Given the description of an element on the screen output the (x, y) to click on. 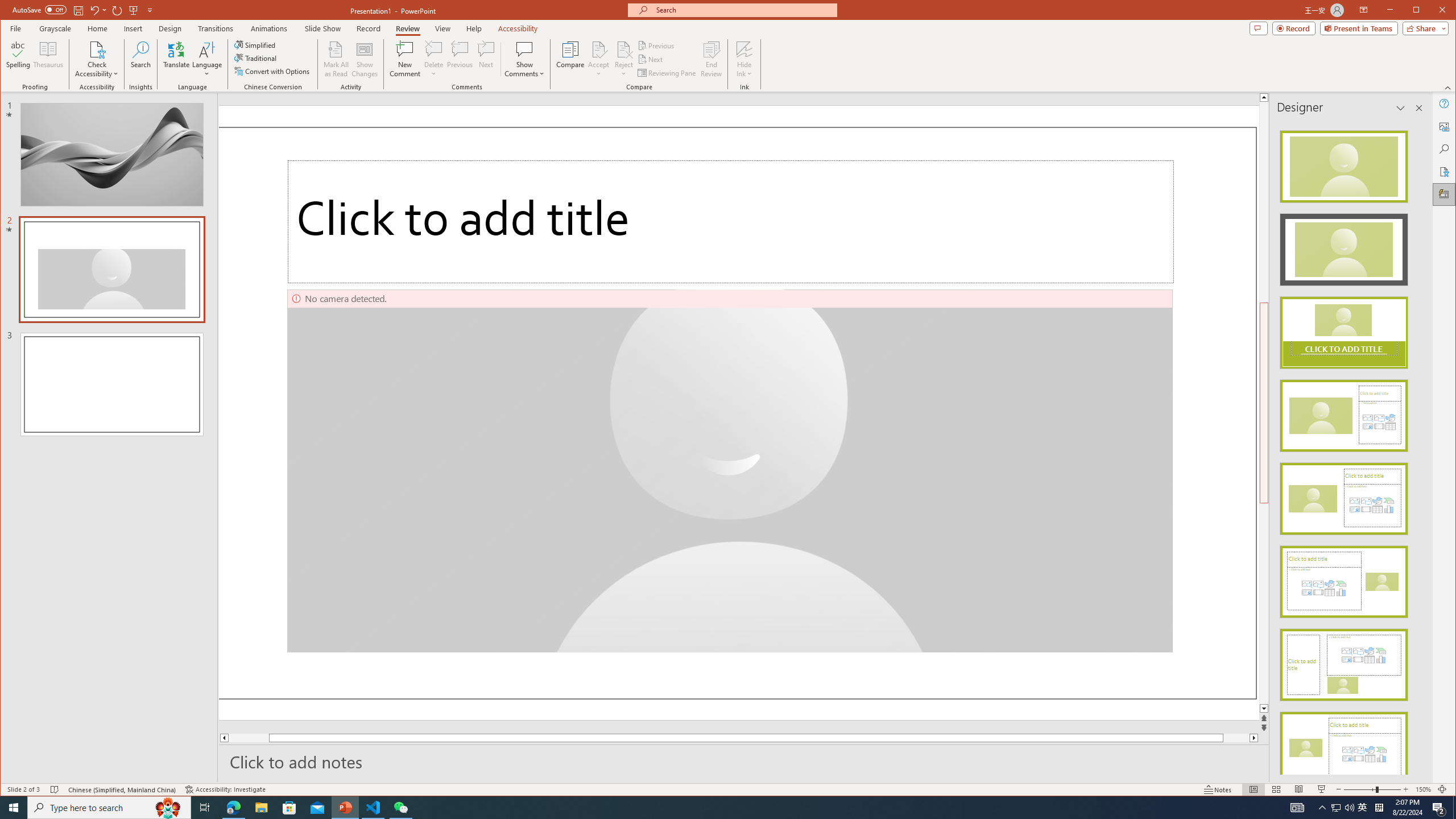
Language (207, 59)
Grayscale (55, 28)
Thesaurus... (48, 59)
Compare (569, 59)
Next (651, 59)
